Given the description of an element on the screen output the (x, y) to click on. 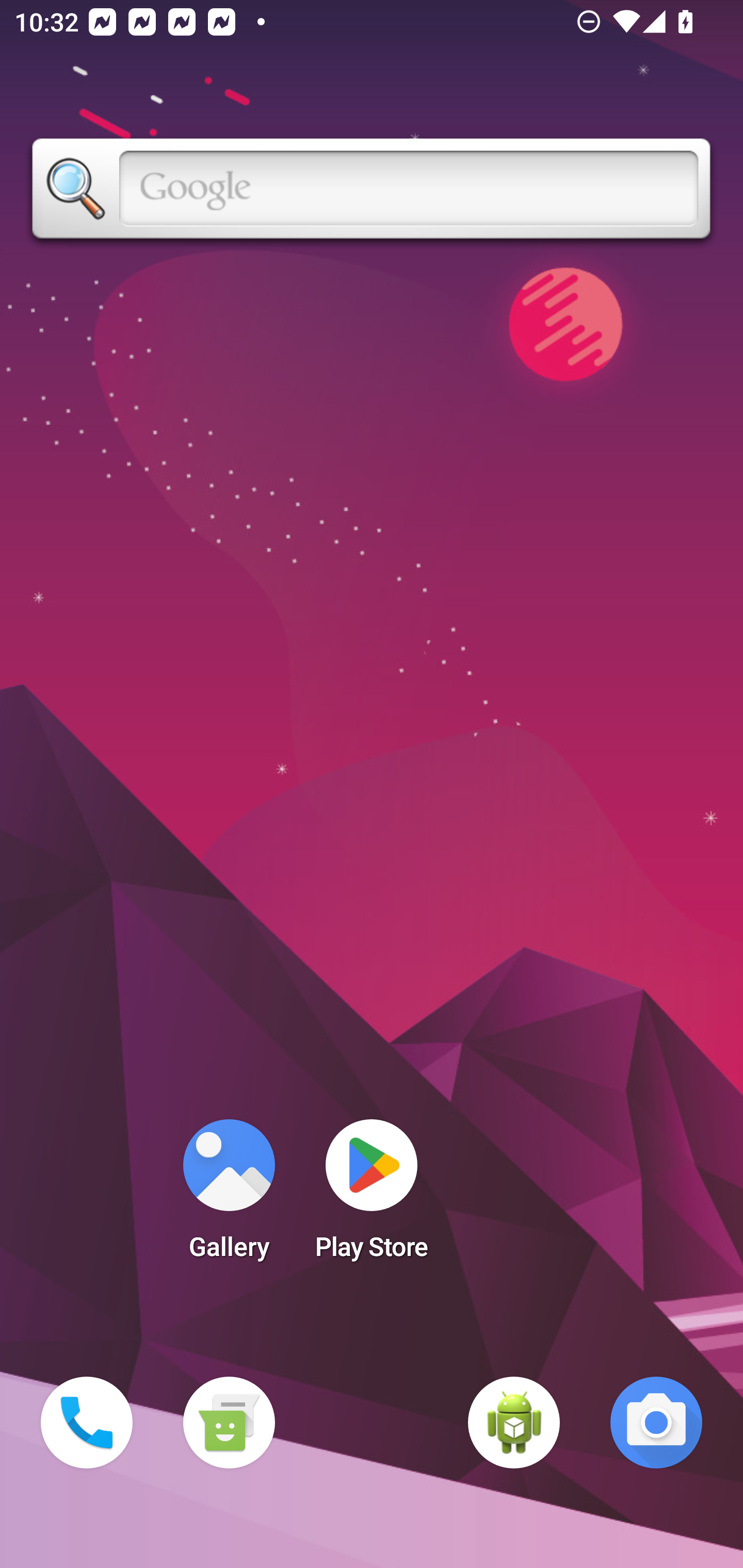
Gallery (228, 1195)
Play Store (371, 1195)
Phone (86, 1422)
Messaging (228, 1422)
WebView Browser Tester (513, 1422)
Camera (656, 1422)
